Given the description of an element on the screen output the (x, y) to click on. 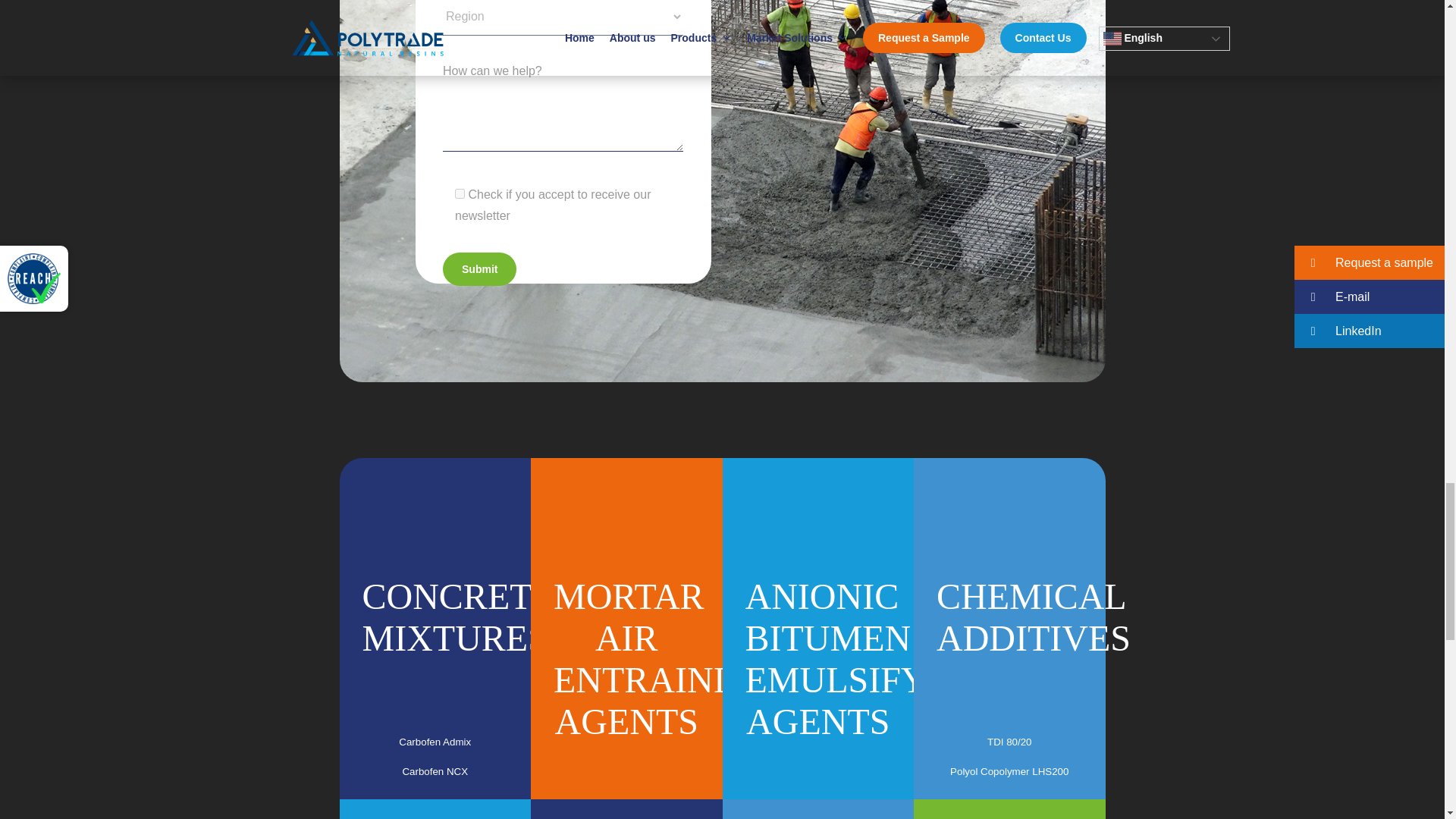
Submit (479, 268)
Check if you accept to receive our newsletter (459, 194)
